Given the description of an element on the screen output the (x, y) to click on. 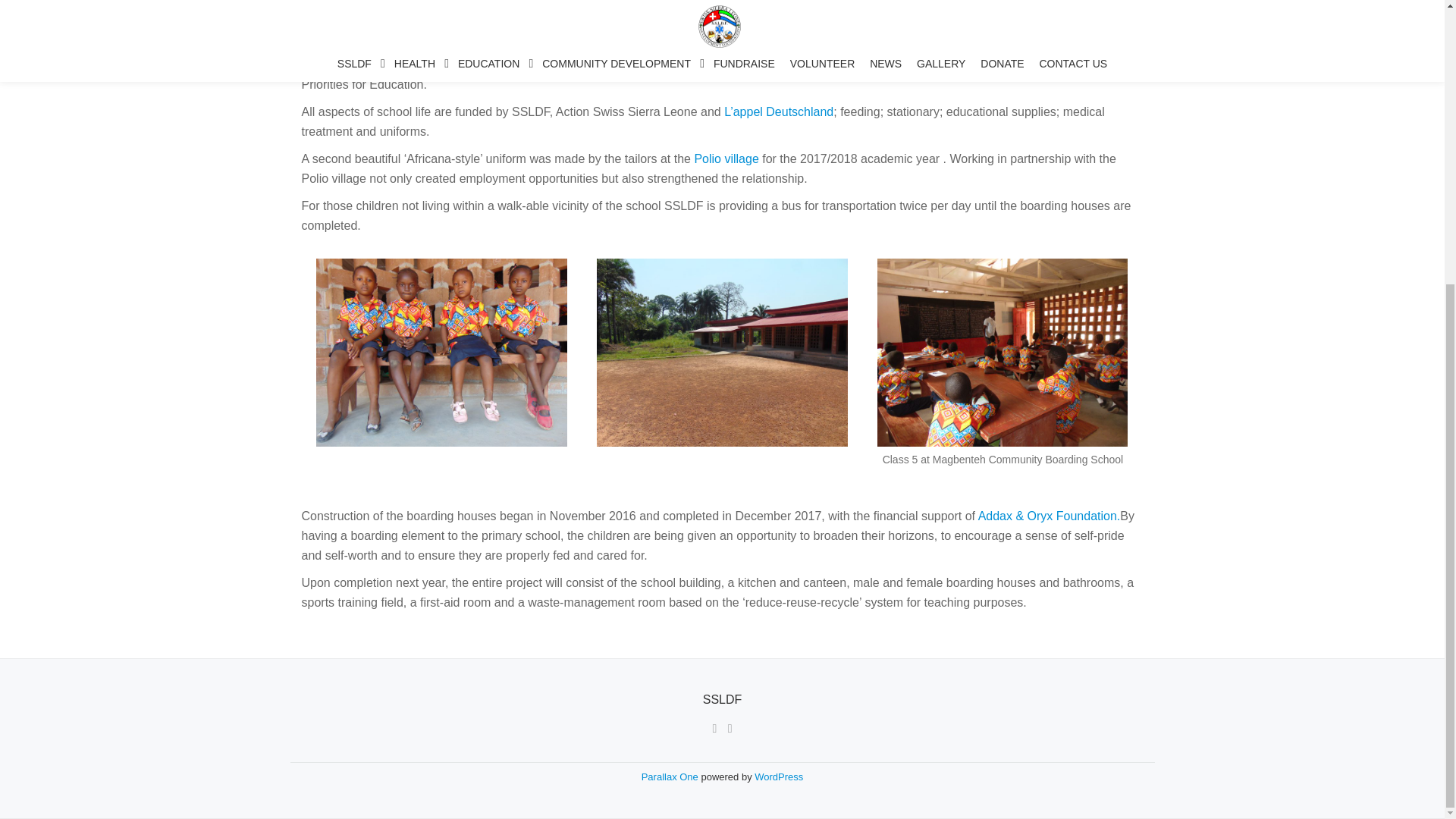
WordPress (778, 776)
Polio village (726, 158)
Parallax One (671, 776)
